Given the description of an element on the screen output the (x, y) to click on. 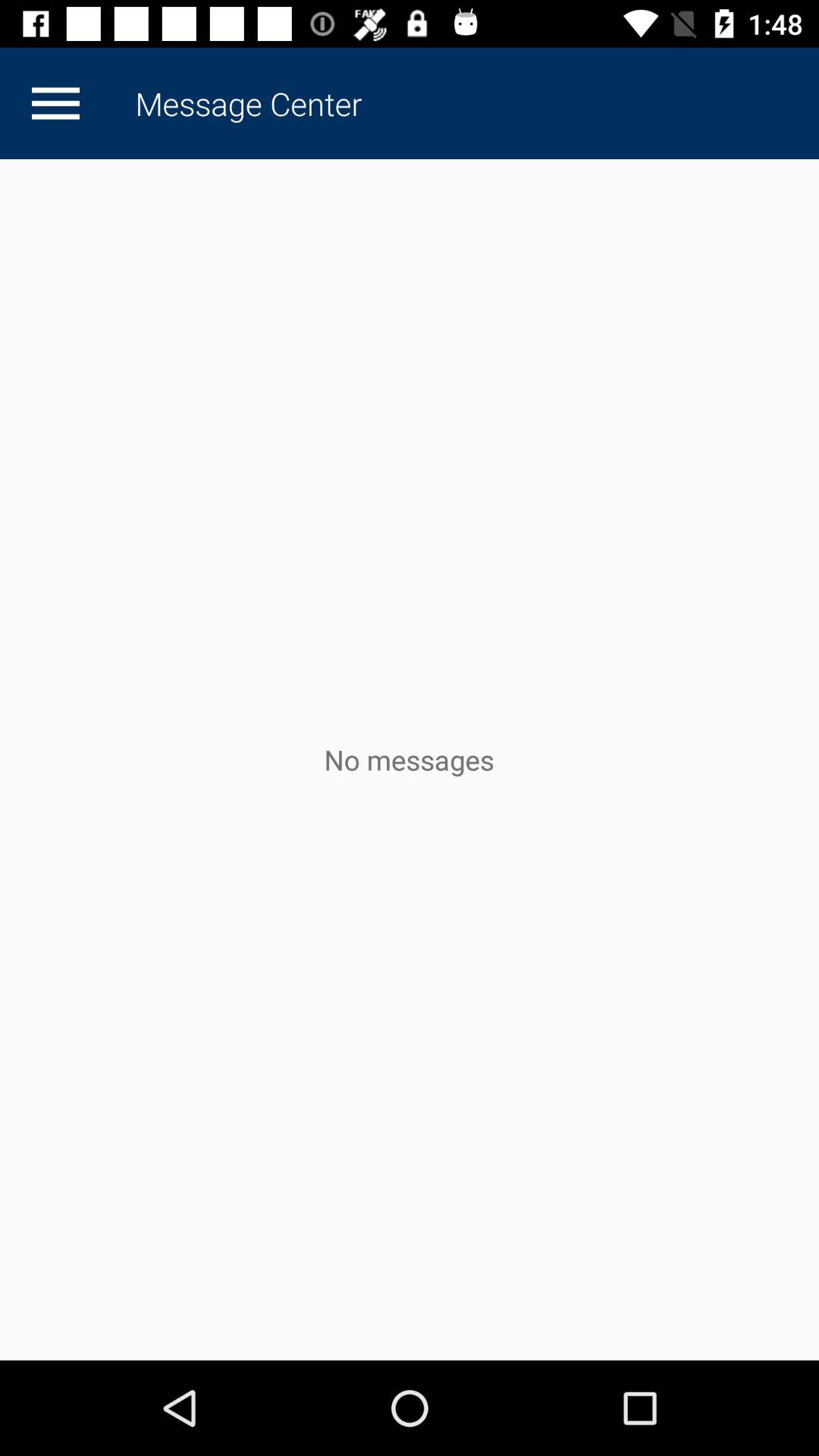
menu (55, 103)
